Given the description of an element on the screen output the (x, y) to click on. 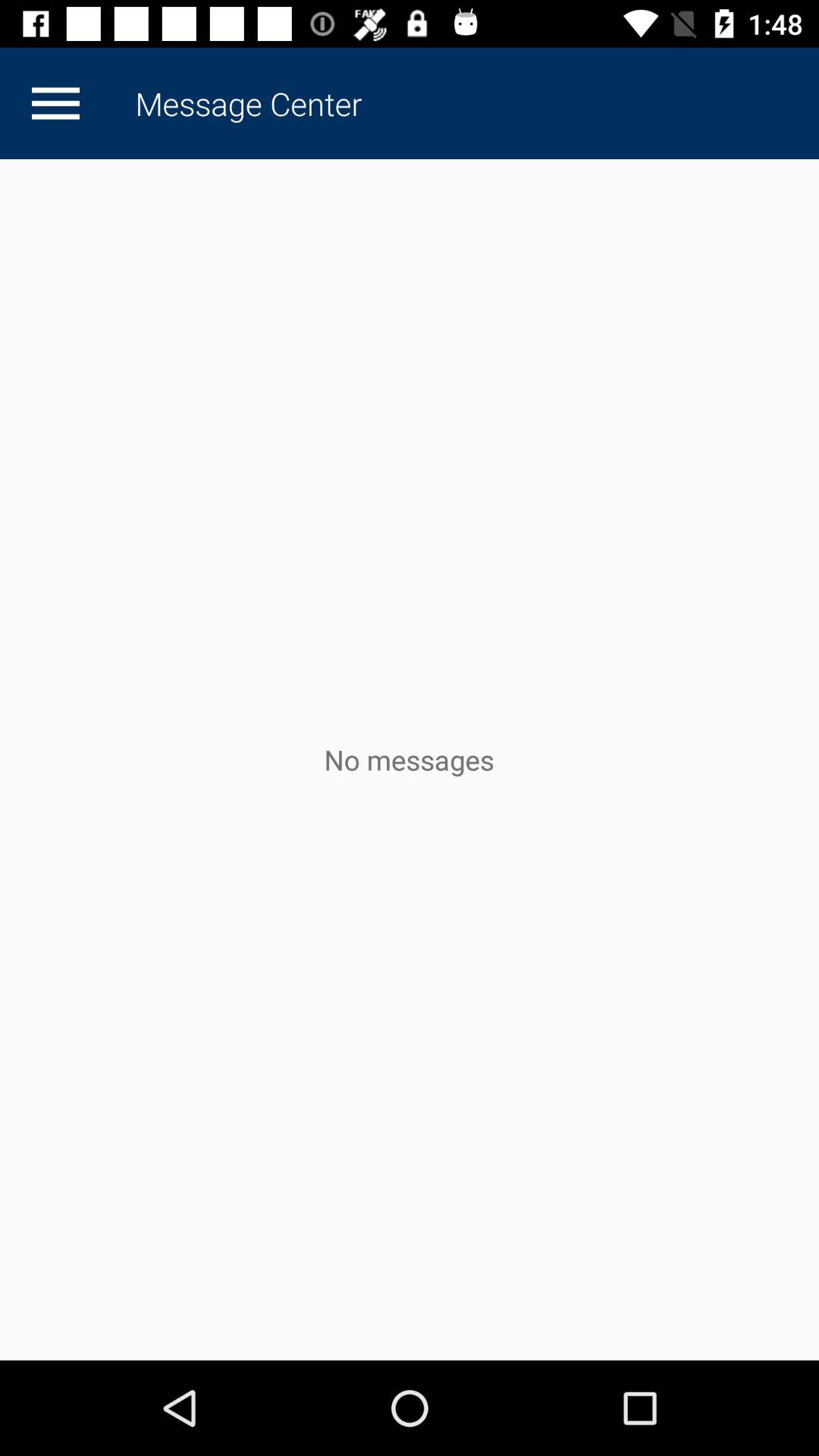
menu (55, 103)
